Given the description of an element on the screen output the (x, y) to click on. 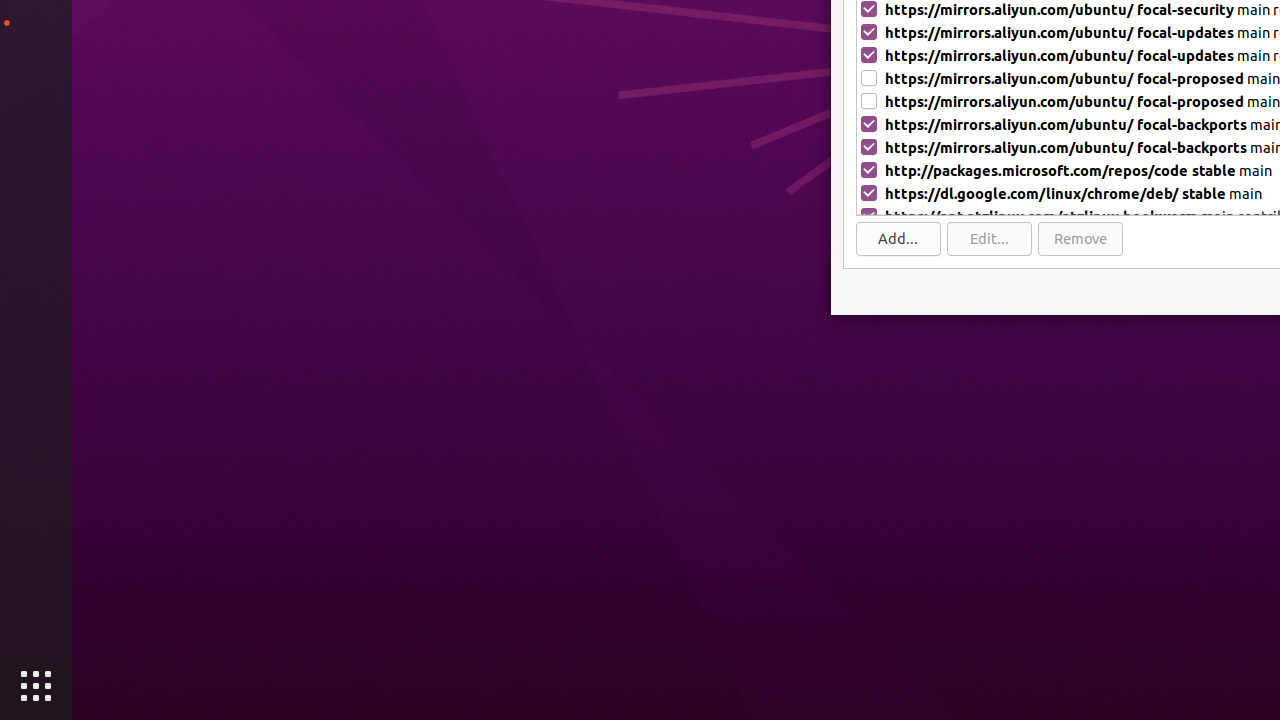
Add... Element type: push-button (898, 239)
Edit... Element type: push-button (989, 239)
Remove Element type: push-button (1080, 239)
